Given the description of an element on the screen output the (x, y) to click on. 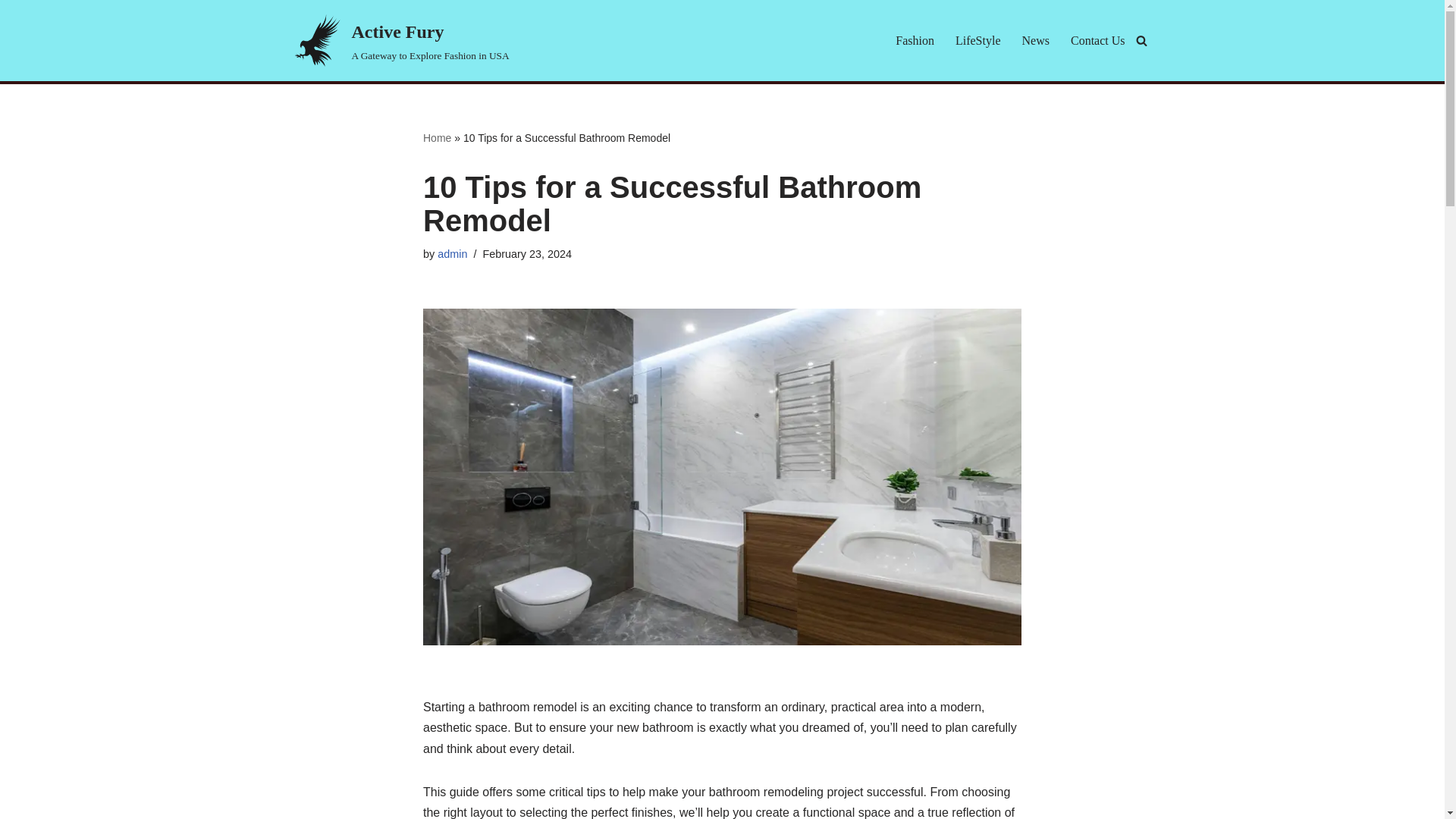
Fashion (914, 40)
Posts by admin (452, 254)
Contact Us (398, 40)
Skip to content (1097, 40)
admin (11, 31)
News (452, 254)
LifeStyle (1035, 40)
Home (978, 40)
